Given the description of an element on the screen output the (x, y) to click on. 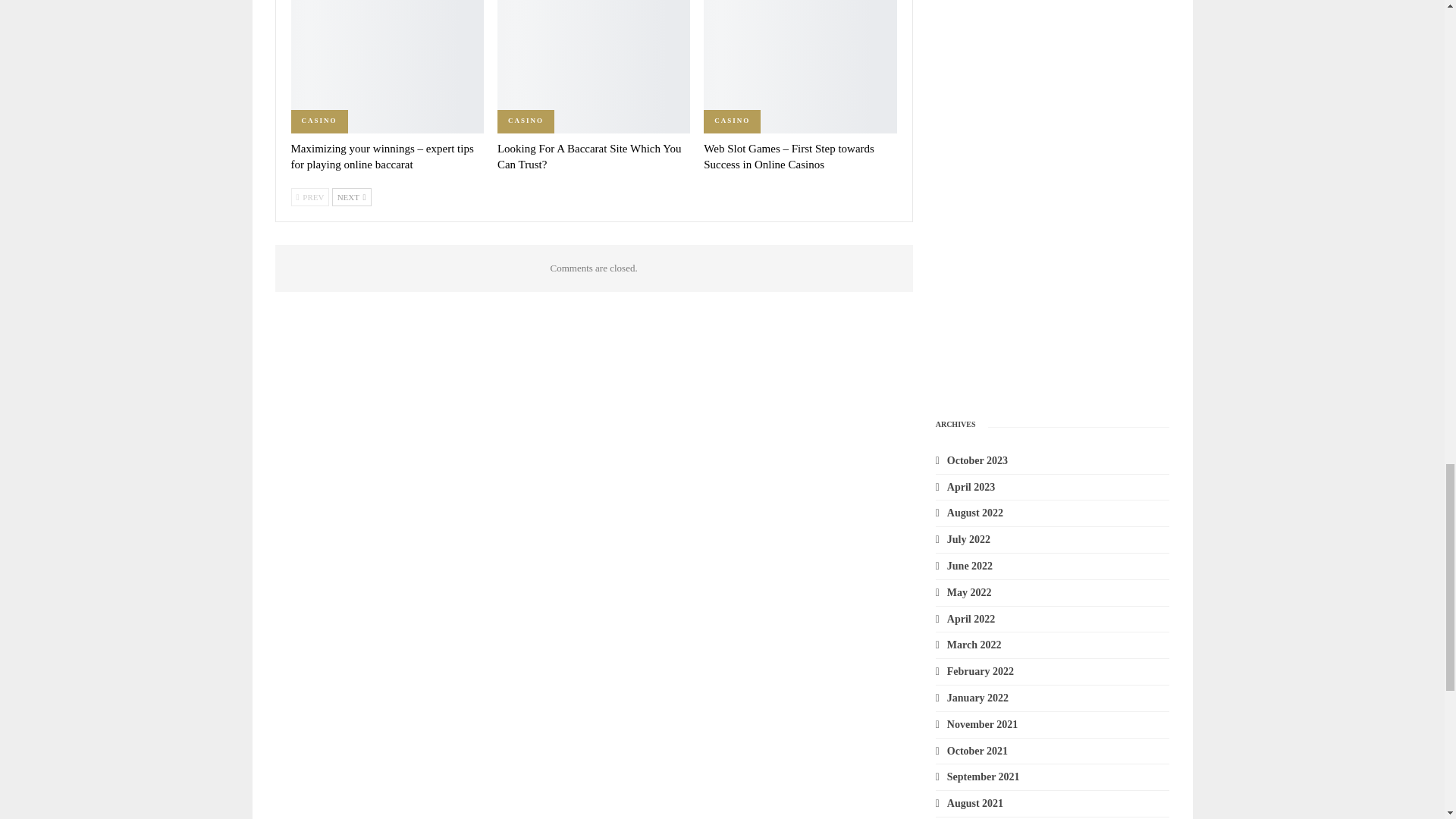
CASINO (319, 120)
Previous (310, 197)
Next (351, 197)
Looking For A Baccarat Site Which You Can Trust? (593, 66)
Looking For A Baccarat Site Which You Can Trust? (589, 156)
